Given the description of an element on the screen output the (x, y) to click on. 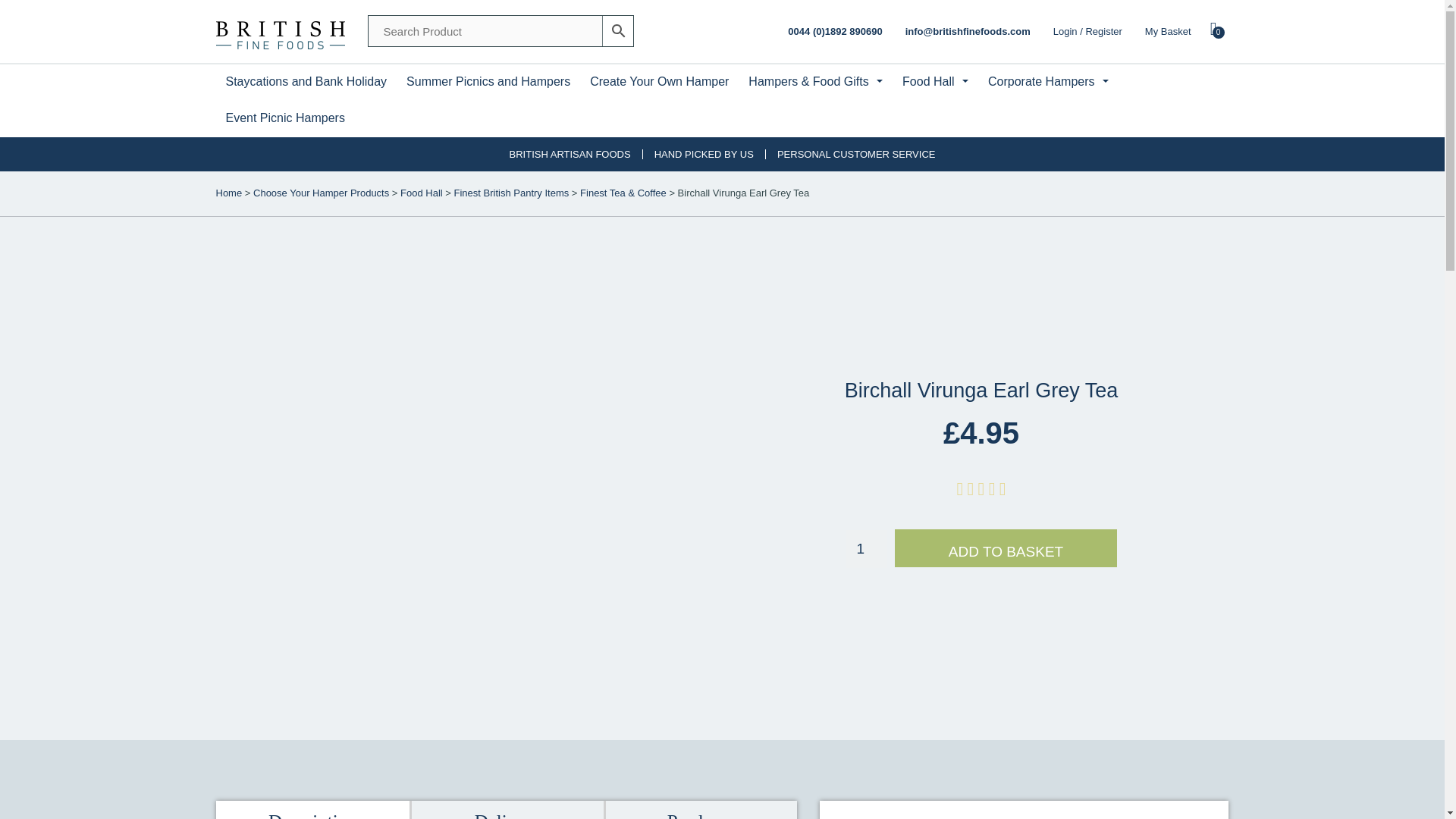
Create Your Own Hamper (658, 82)
Staycations and Bank Holiday (1181, 31)
Summer Picnics and Hampers (305, 82)
British Fine Foods (487, 82)
1 (279, 31)
